Given the description of an element on the screen output the (x, y) to click on. 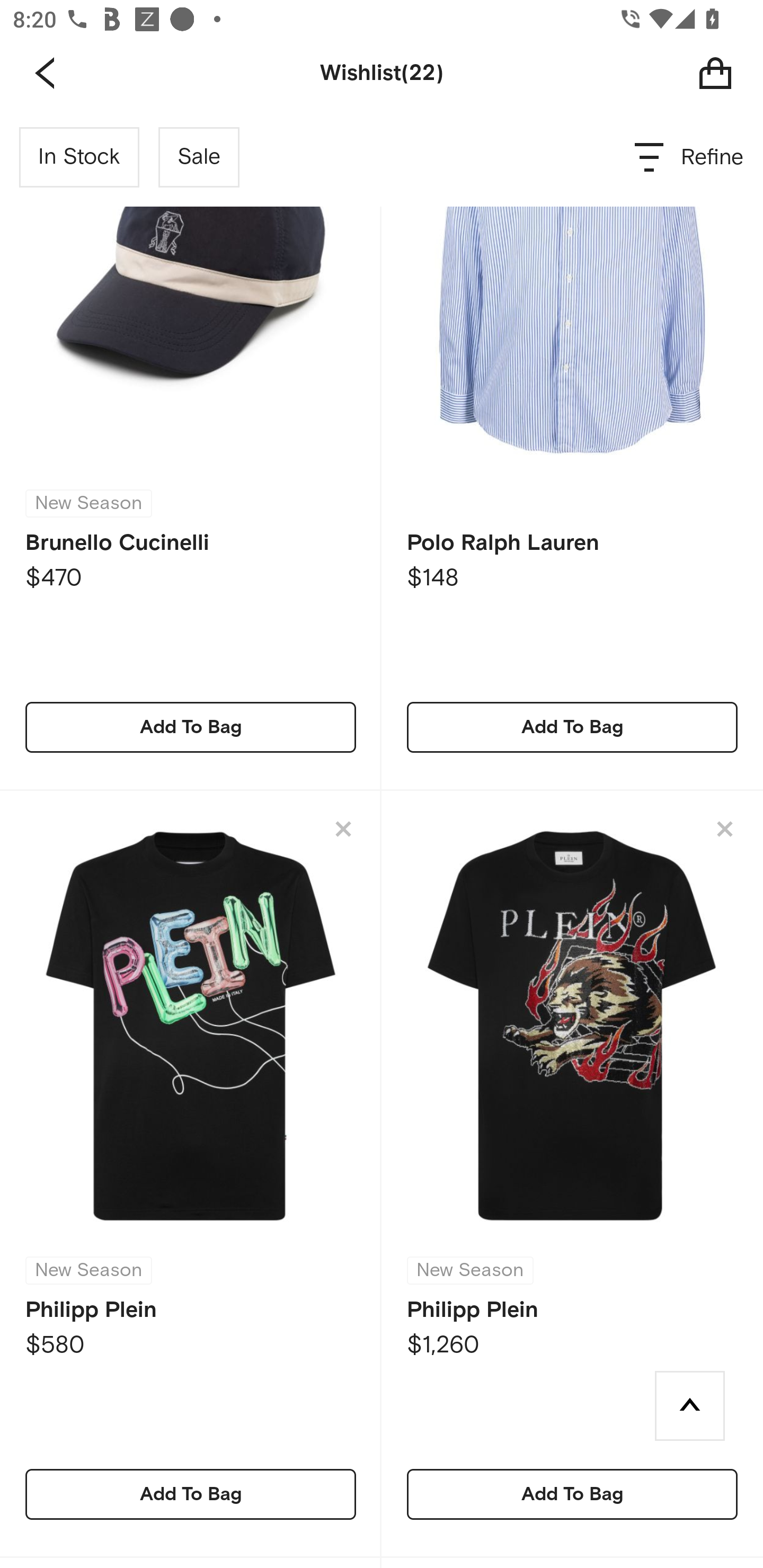
New Season Brunello Cucinelli $470 Add To Bag (190, 449)
Polo Ralph Lauren $148 Add To Bag (572, 449)
In Stock (79, 157)
Sale (198, 157)
Refine (690, 157)
Add To Bag (190, 727)
Add To Bag (571, 727)
New Season Philipp Plein $580 Add To Bag (190, 1174)
New Season Philipp Plein $1,260 Add To Bag (572, 1174)
Add To Bag (190, 1493)
Add To Bag (571, 1493)
